Given the description of an element on the screen output the (x, y) to click on. 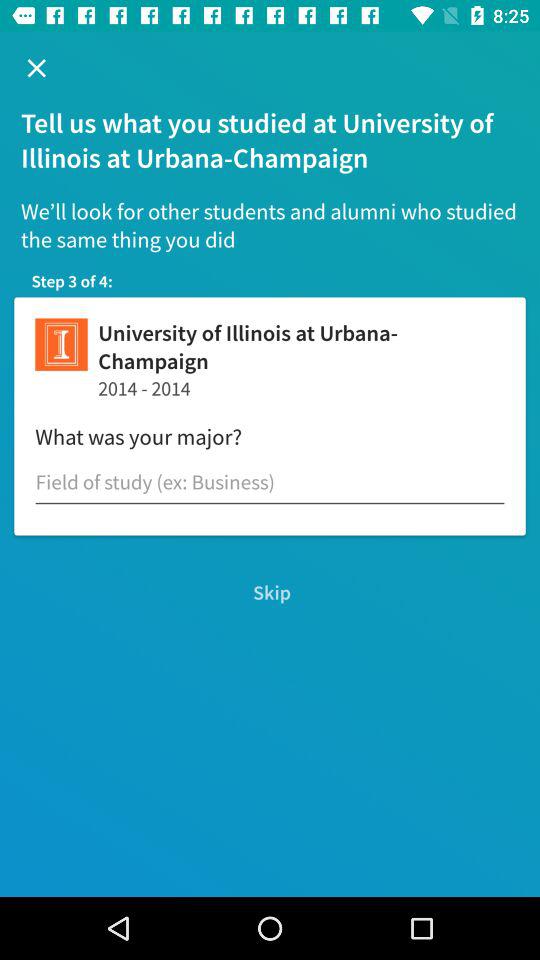
field of study (269, 482)
